Given the description of an element on the screen output the (x, y) to click on. 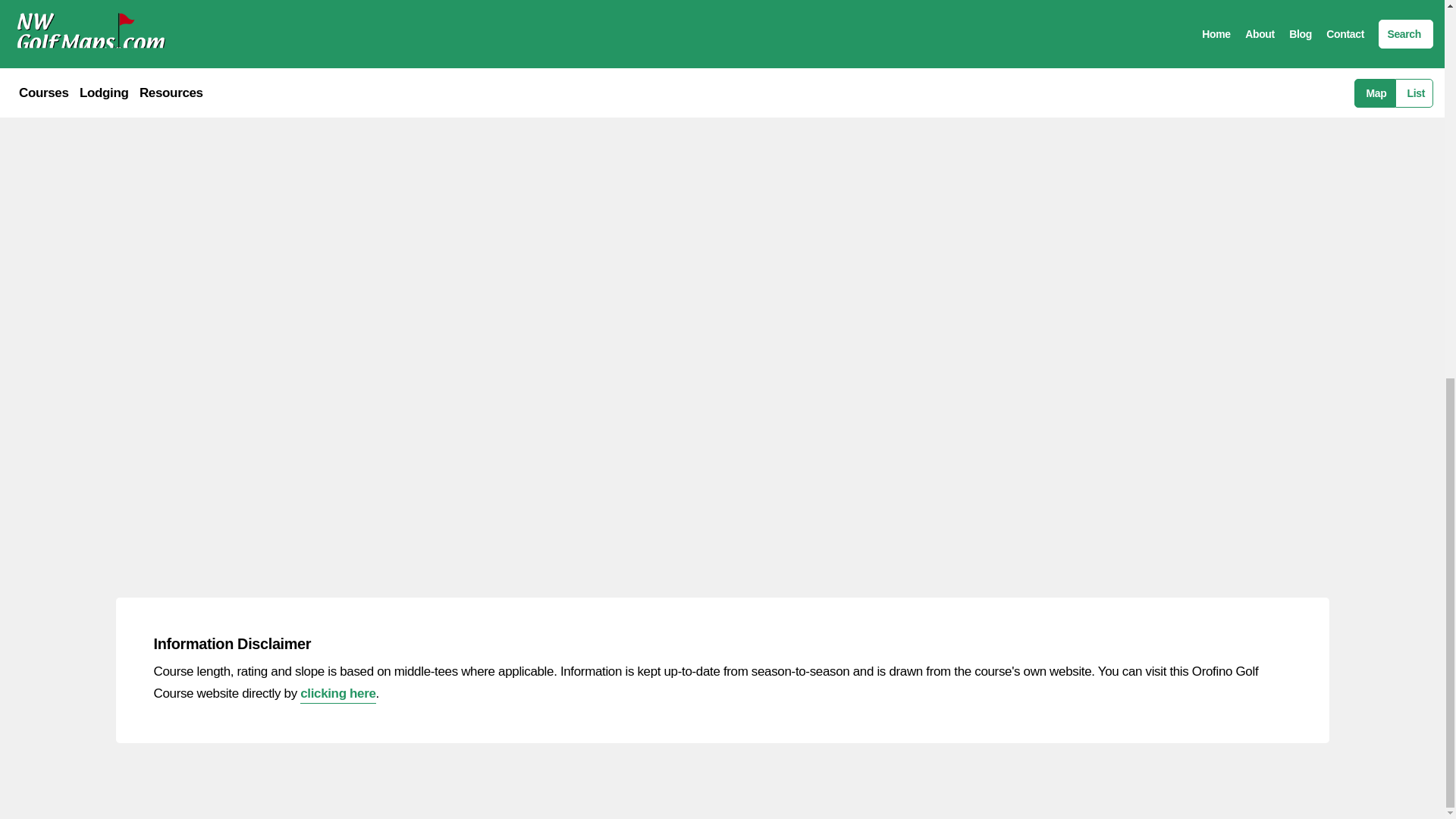
clicking here (337, 694)
